Given the description of an element on the screen output the (x, y) to click on. 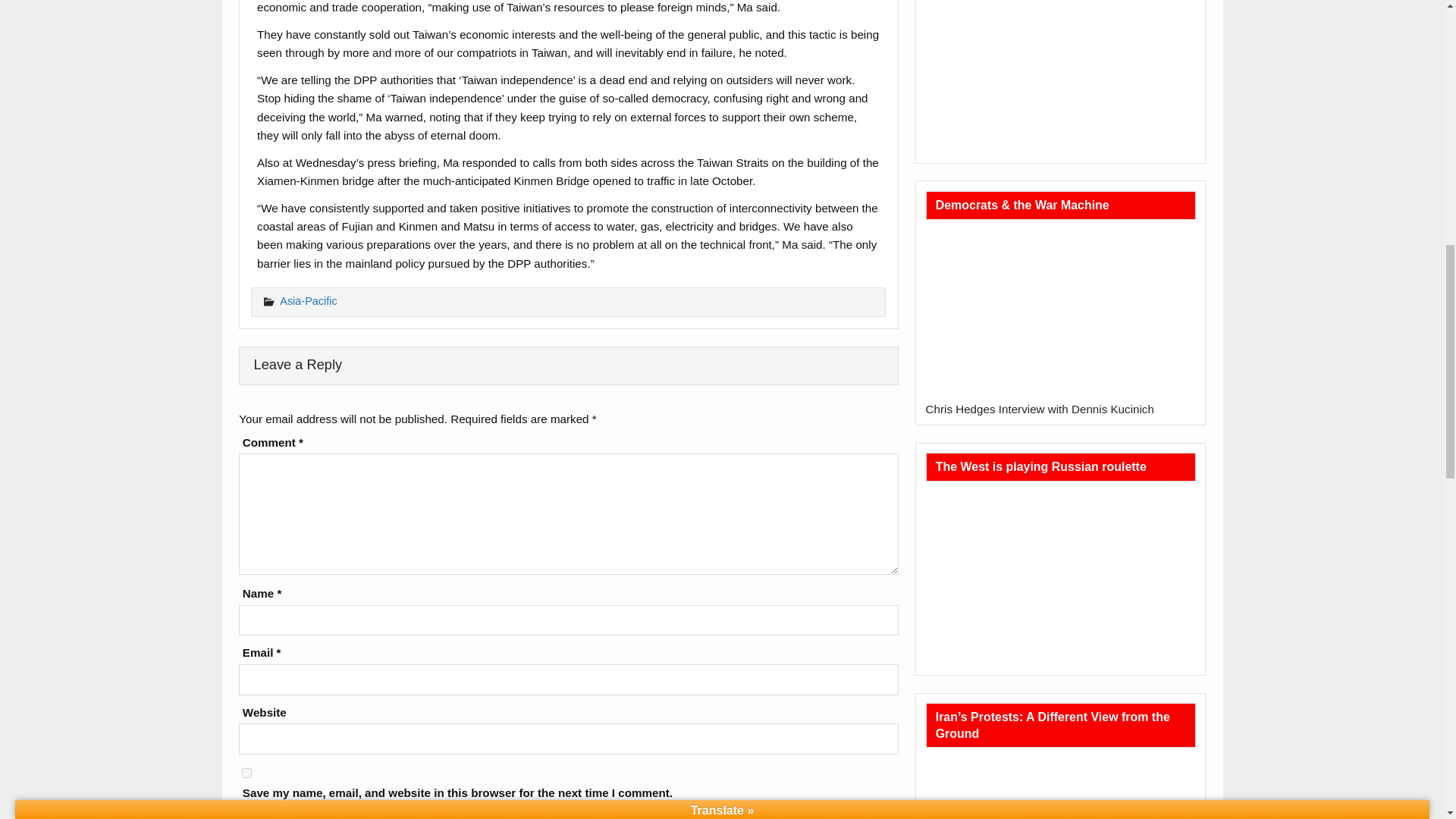
yes (246, 773)
Post Comment (325, 814)
Post Comment (325, 814)
Asia-Pacific (307, 300)
